Given the description of an element on the screen output the (x, y) to click on. 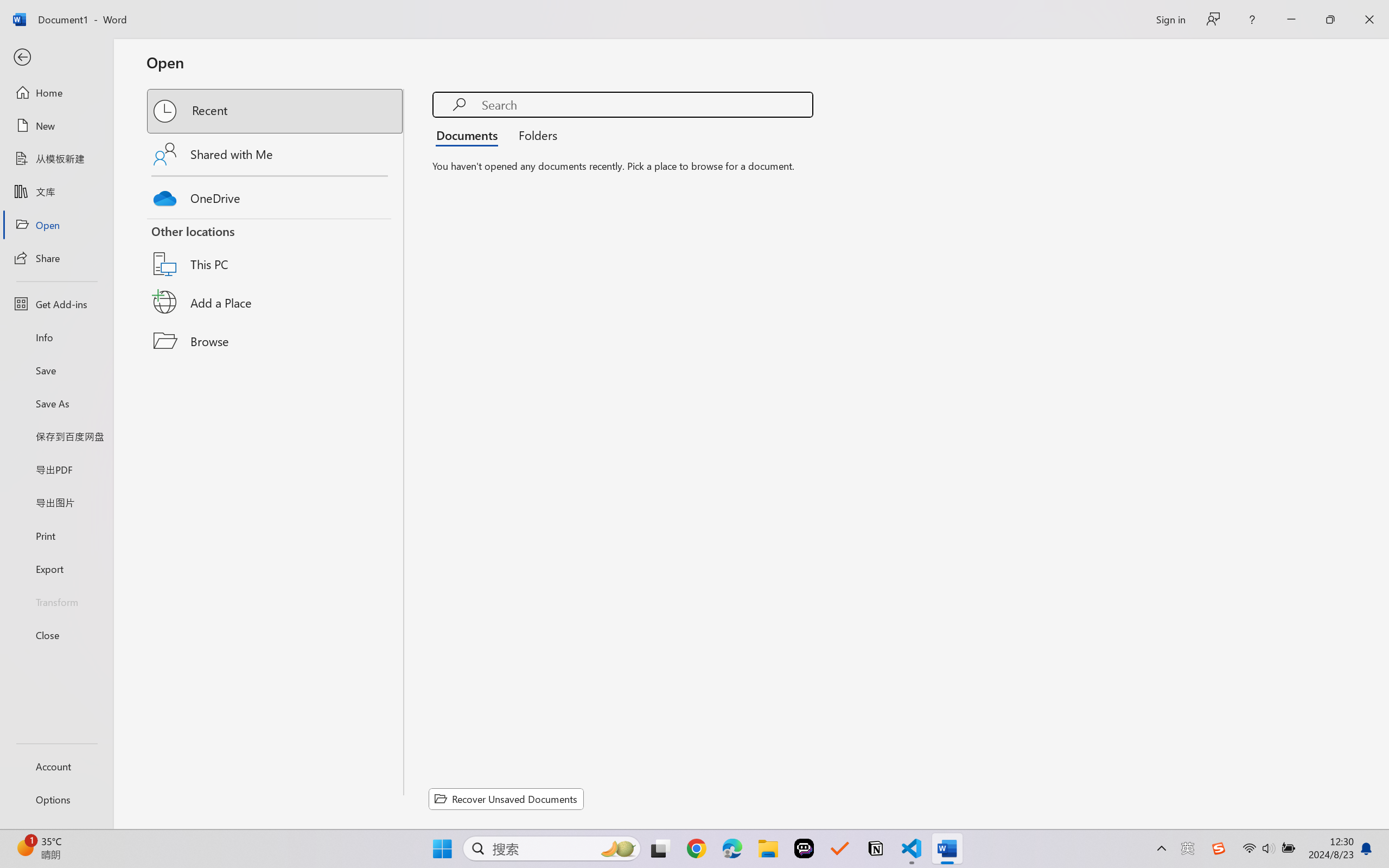
Export (56, 568)
Browse (275, 340)
Documents (469, 134)
